Given the description of an element on the screen output the (x, y) to click on. 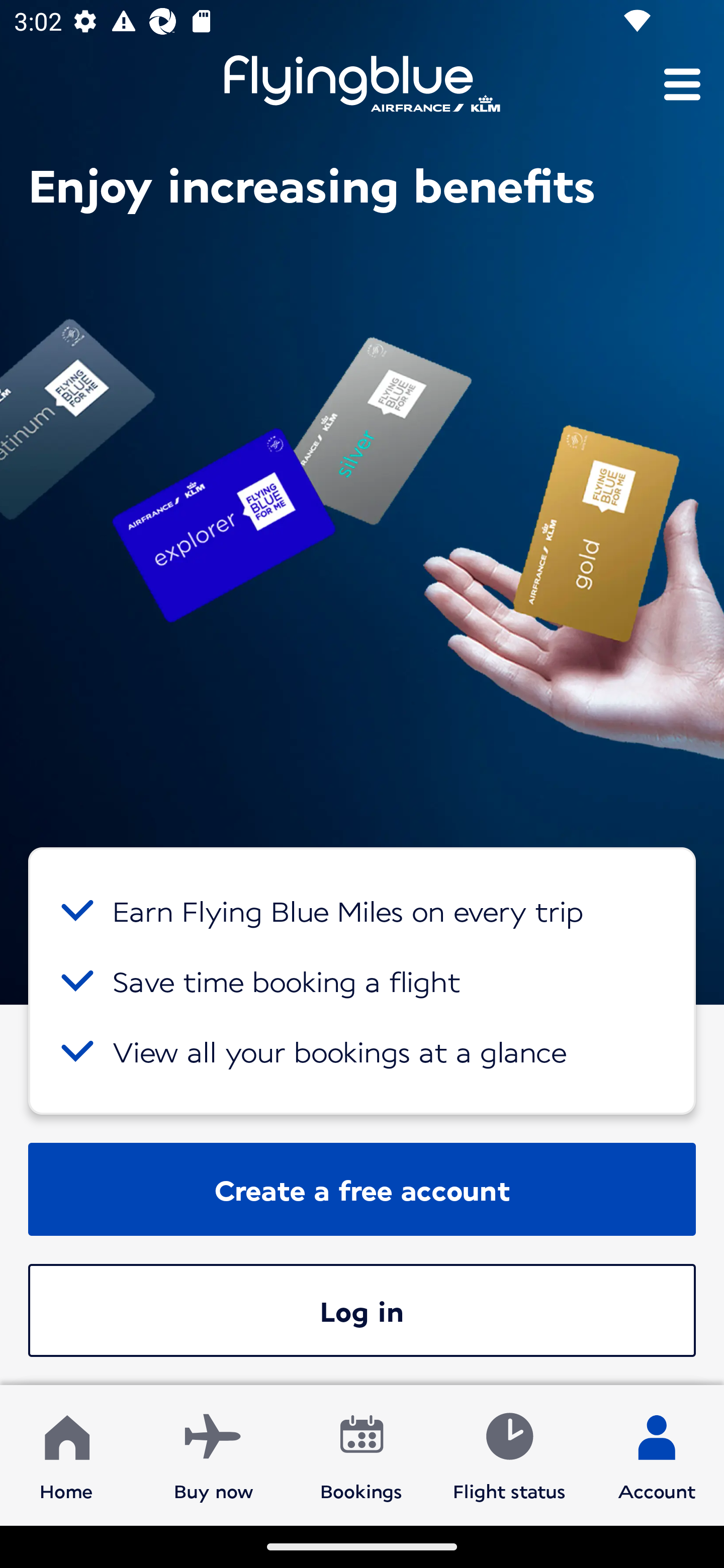
Create a free account (361, 1189)
Log in (361, 1309)
Home (66, 1454)
Buy now (213, 1454)
Bookings (361, 1454)
Flight status (509, 1454)
